Given the description of an element on the screen output the (x, y) to click on. 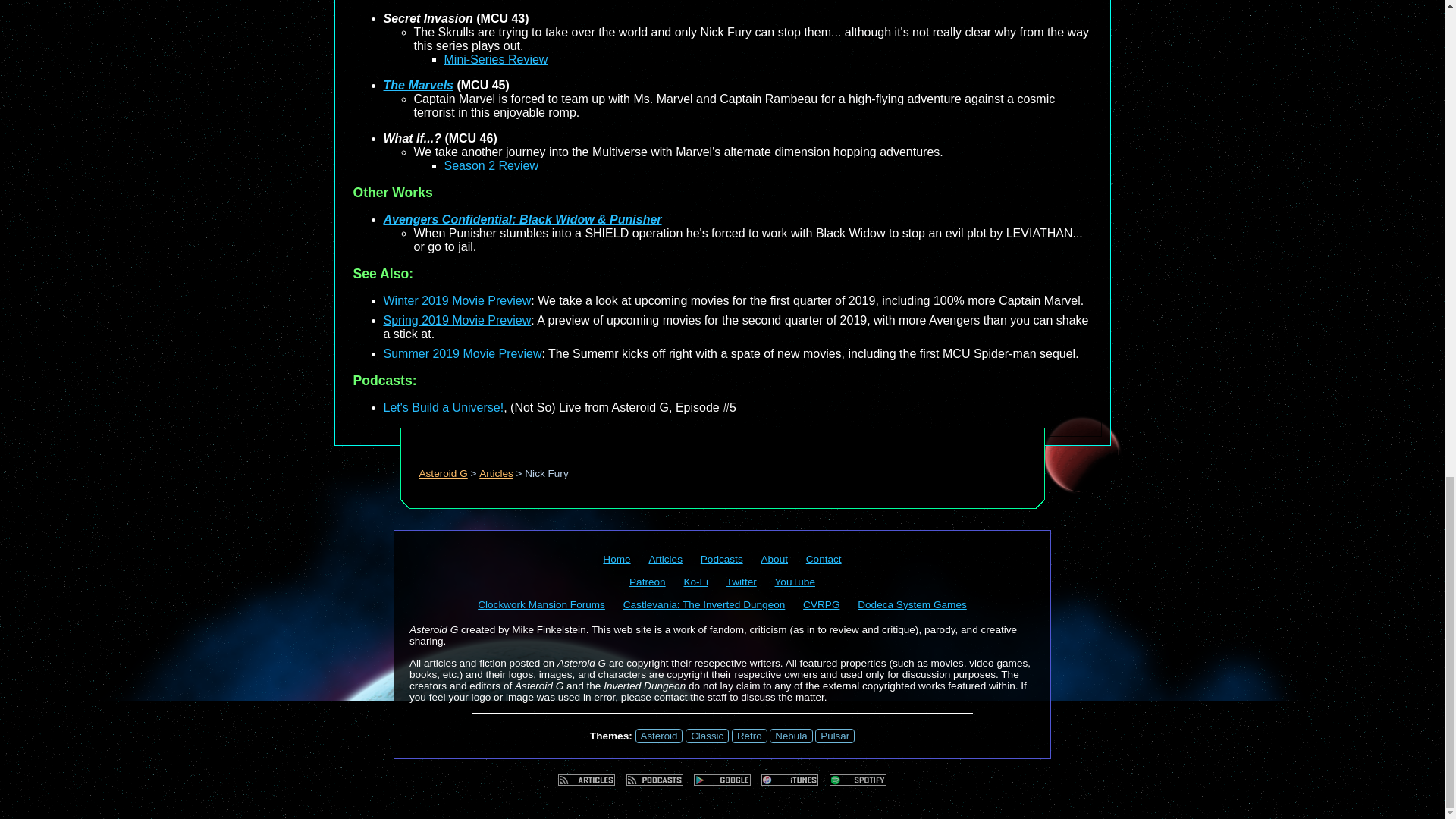
Winter 2019 Movie Preview (457, 300)
Articles (496, 473)
Contact (823, 559)
Home (616, 559)
The Marvels (418, 84)
Patreon (646, 582)
Articles (664, 559)
Dodeca System Games (911, 604)
Summer 2019 Movie Preview (462, 353)
Follow Asteroid G on Twitter (741, 582)
